Given the description of an element on the screen output the (x, y) to click on. 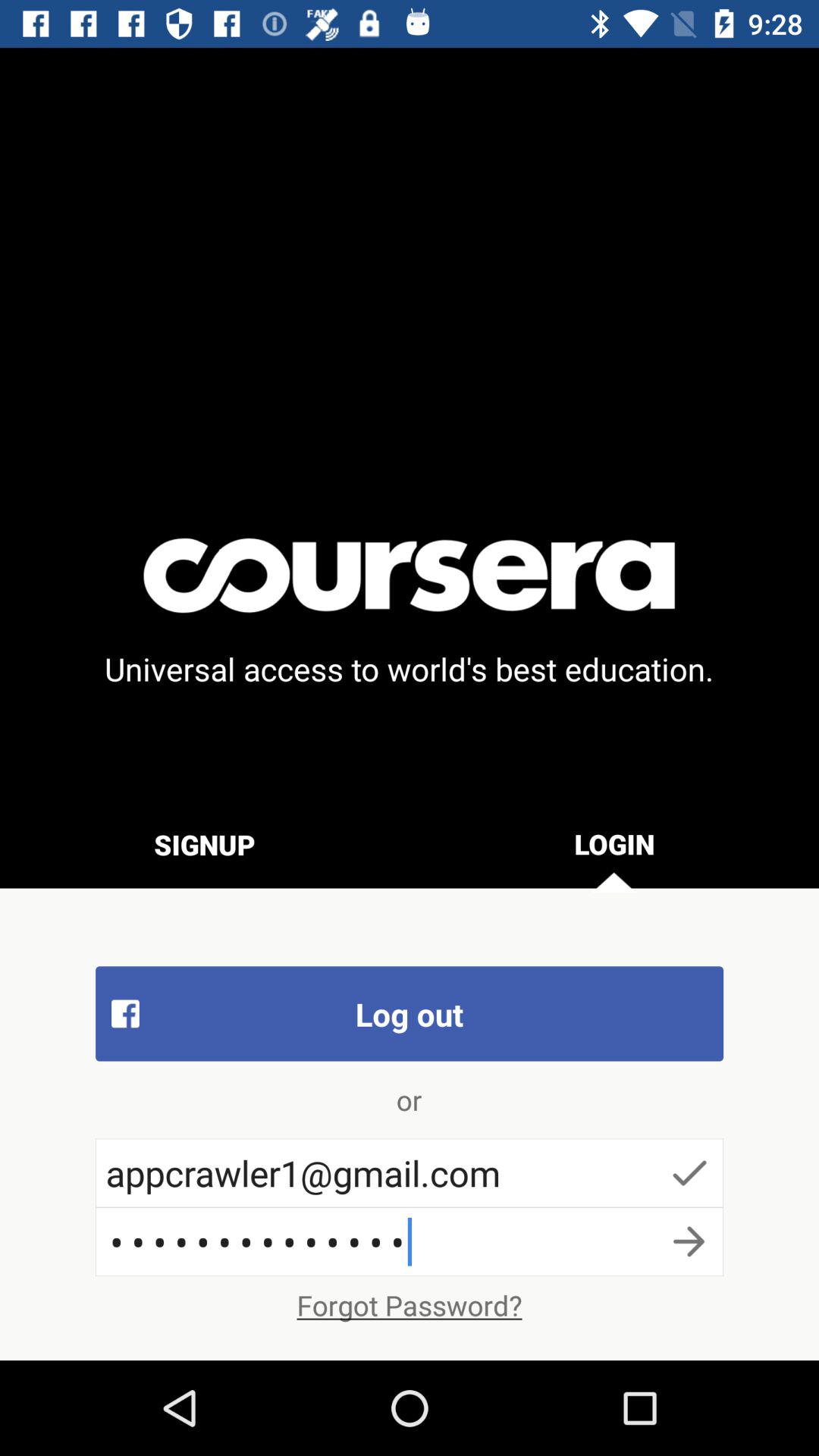
tap the item below the universal access to item (204, 844)
